Given the description of an element on the screen output the (x, y) to click on. 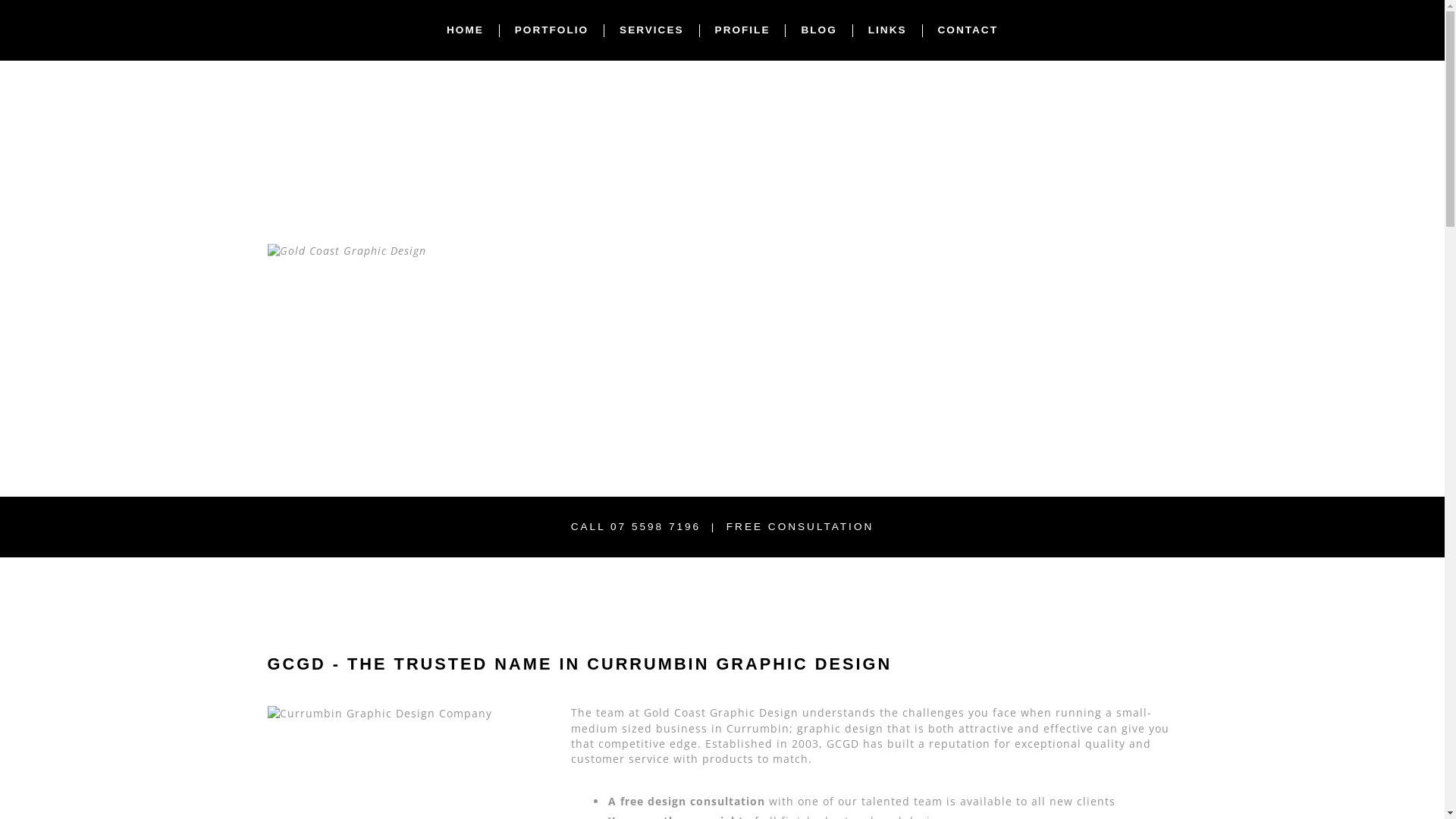
HOME Element type: text (464, 30)
07 5598 7196 Element type: text (655, 526)
SERVICES Element type: text (651, 30)
CONTACT Element type: text (967, 30)
